Given the description of an element on the screen output the (x, y) to click on. 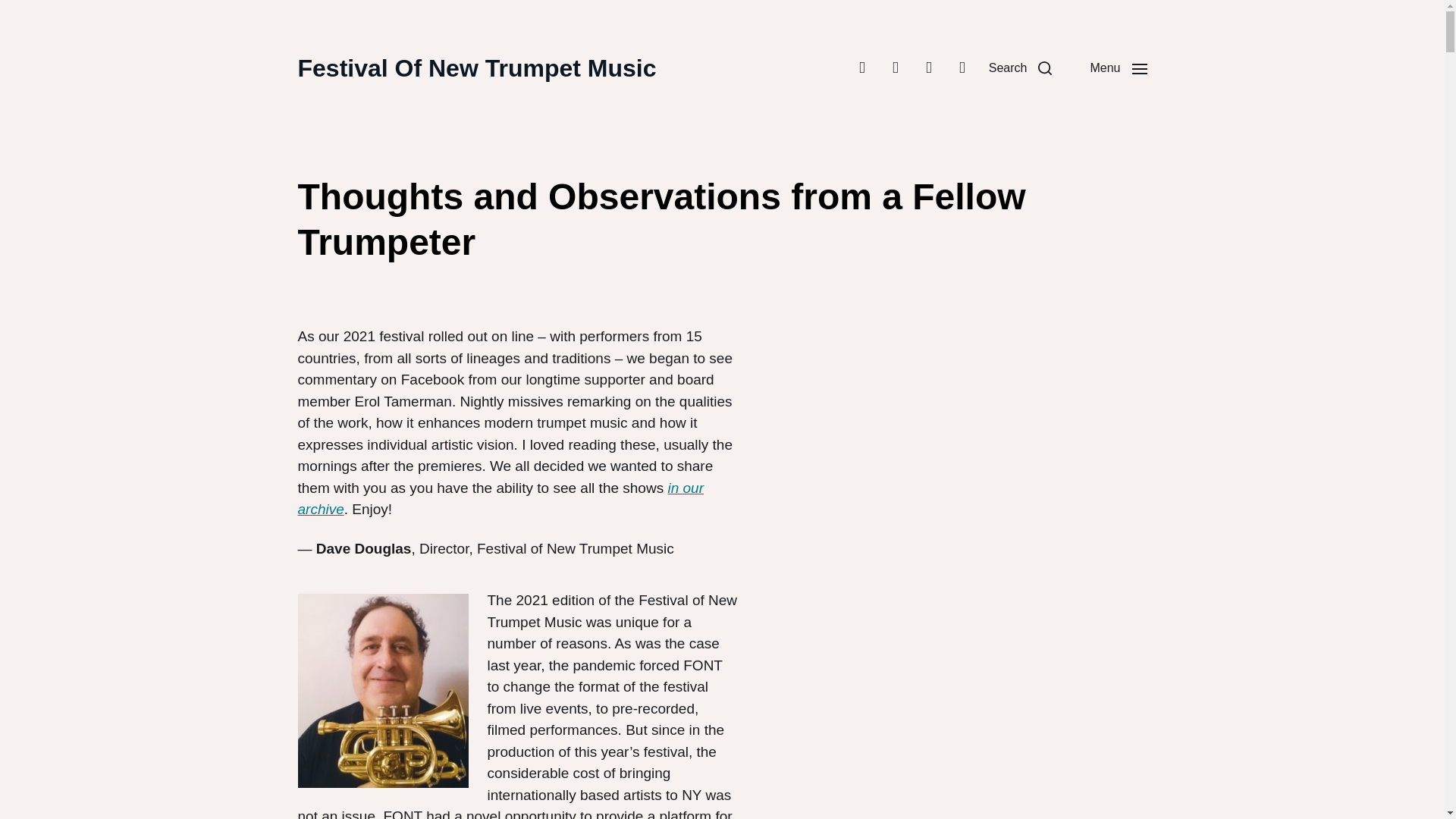
Festival Of New Trumpet Music (476, 68)
